Given the description of an element on the screen output the (x, y) to click on. 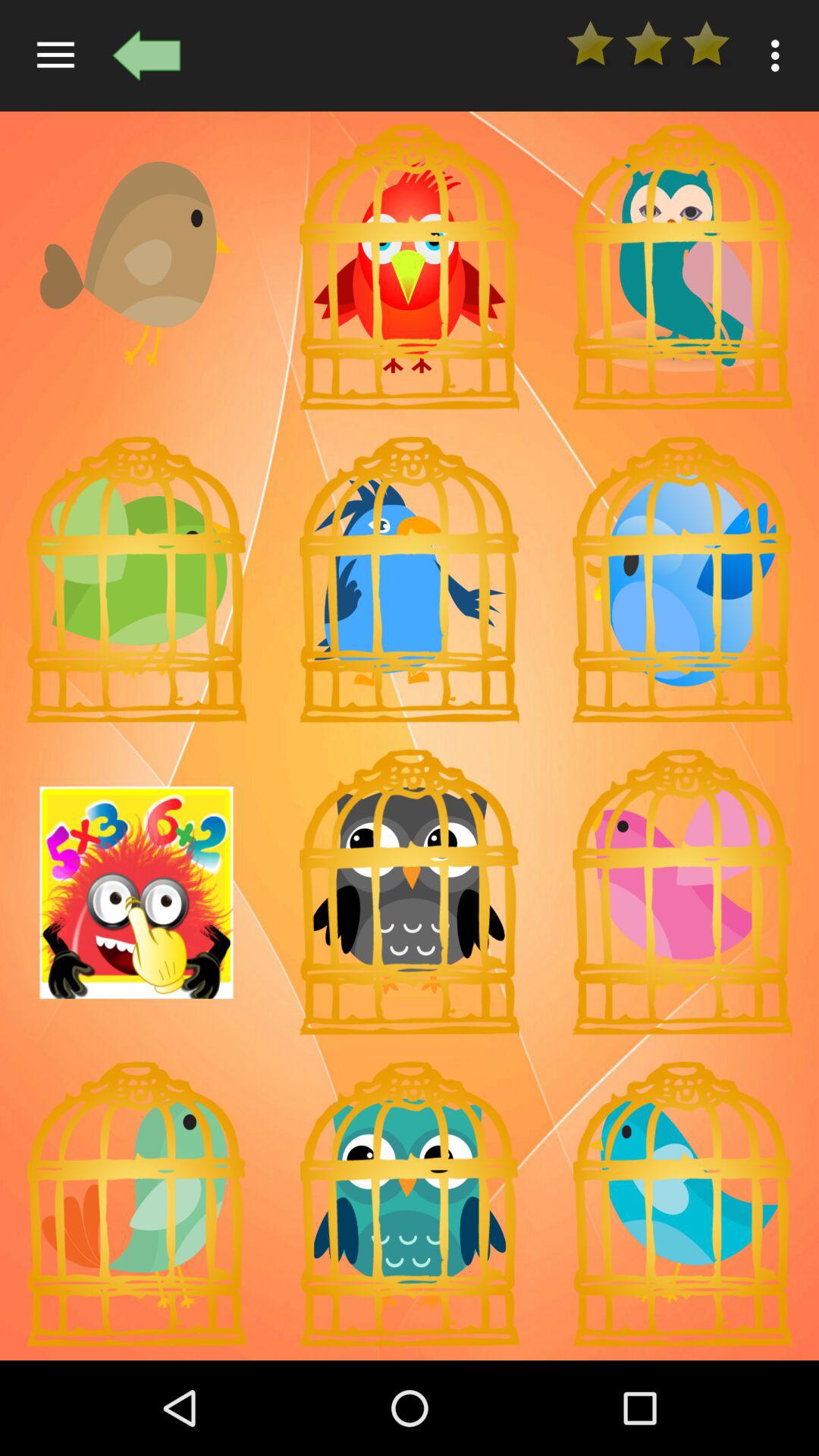
choose your choice (682, 1204)
